Given the description of an element on the screen output the (x, y) to click on. 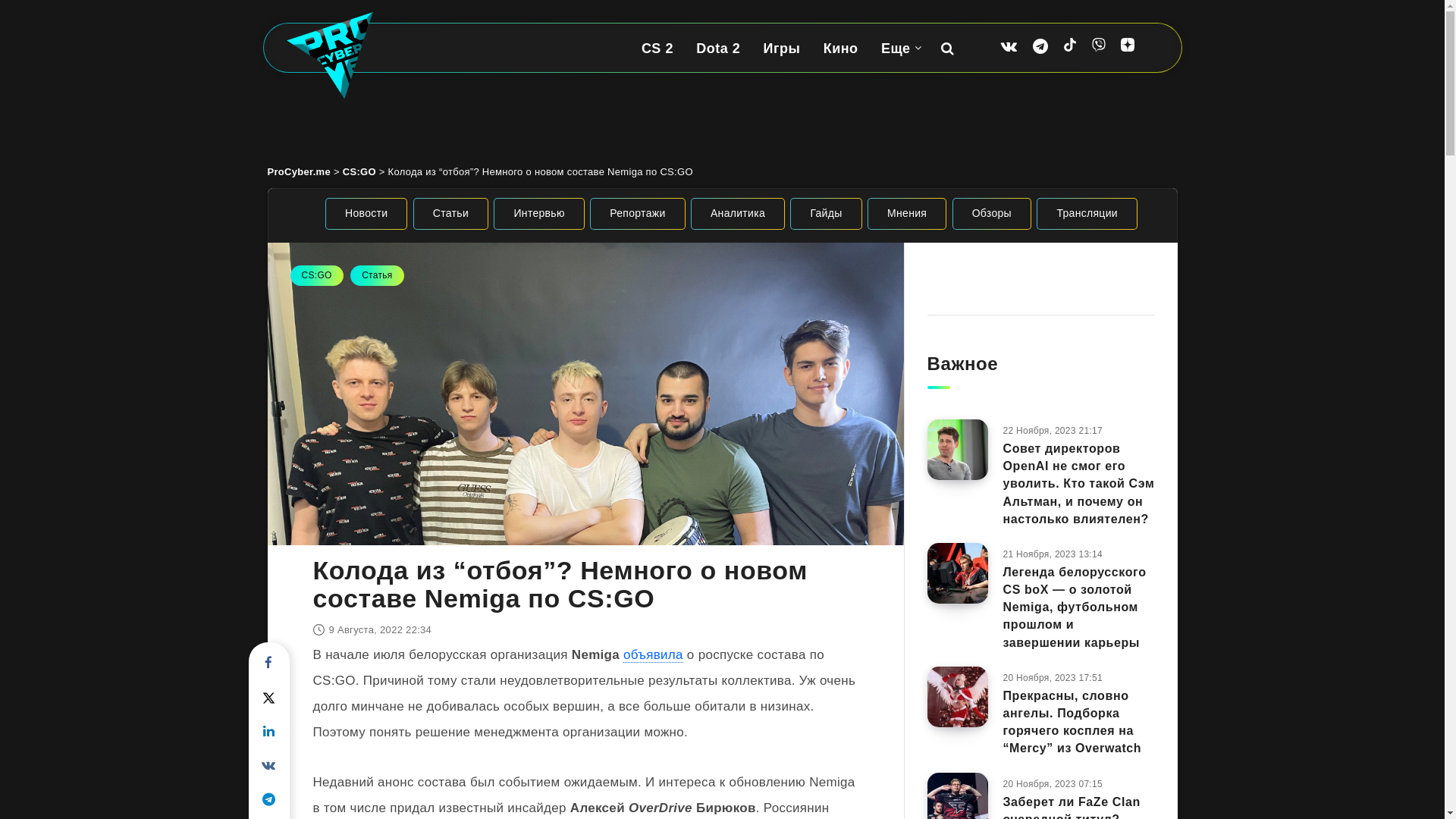
CS 2 Element type: text (657, 48)
ProCyber.me Element type: text (298, 171)
CS:GO Element type: text (315, 275)
Dota 2 Element type: text (718, 48)
CS:GO Element type: text (359, 171)
